Given the description of an element on the screen output the (x, y) to click on. 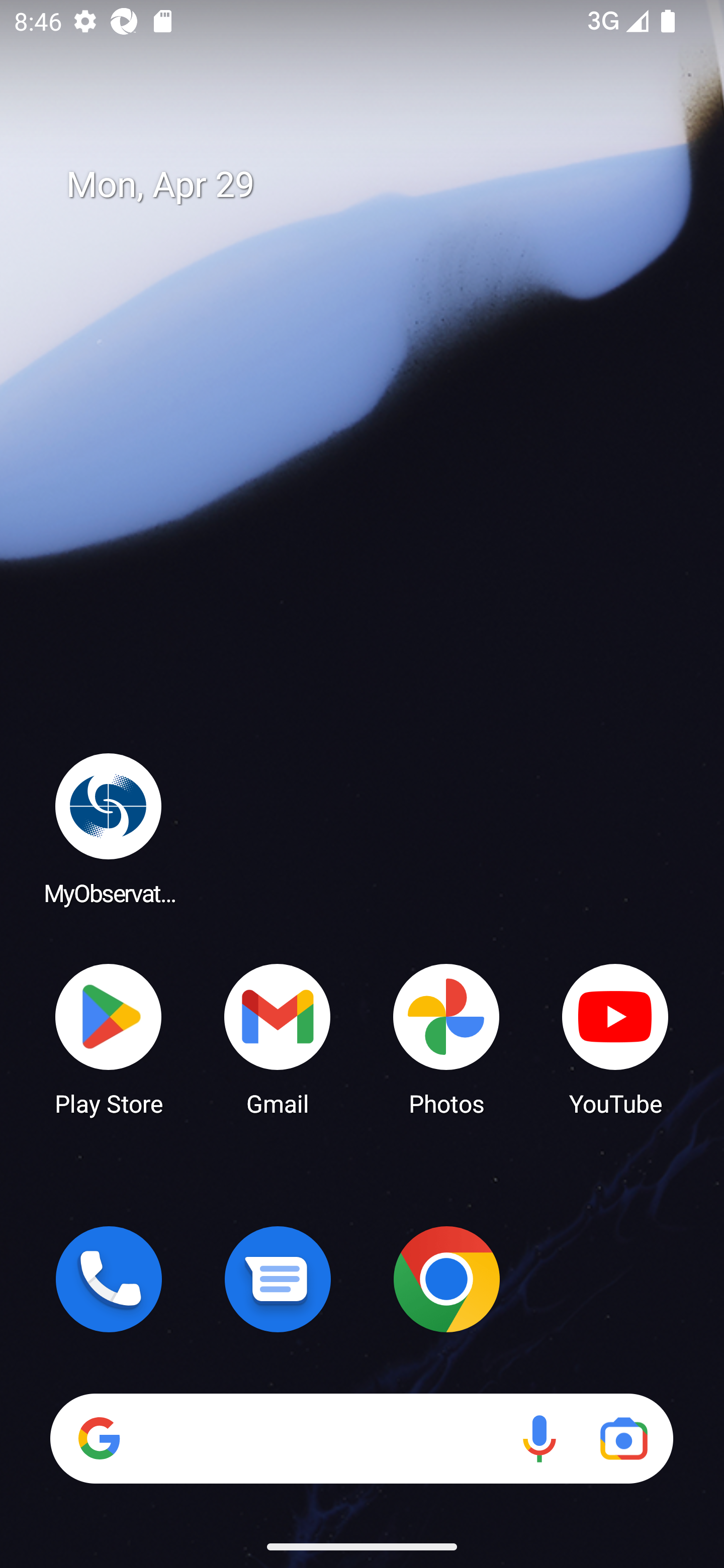
Mon, Apr 29 (375, 184)
MyObservatory (108, 828)
Play Store (108, 1038)
Gmail (277, 1038)
Photos (445, 1038)
YouTube (615, 1038)
Phone (108, 1279)
Messages (277, 1279)
Chrome (446, 1279)
Voice search (539, 1438)
Google Lens (623, 1438)
